Given the description of an element on the screen output the (x, y) to click on. 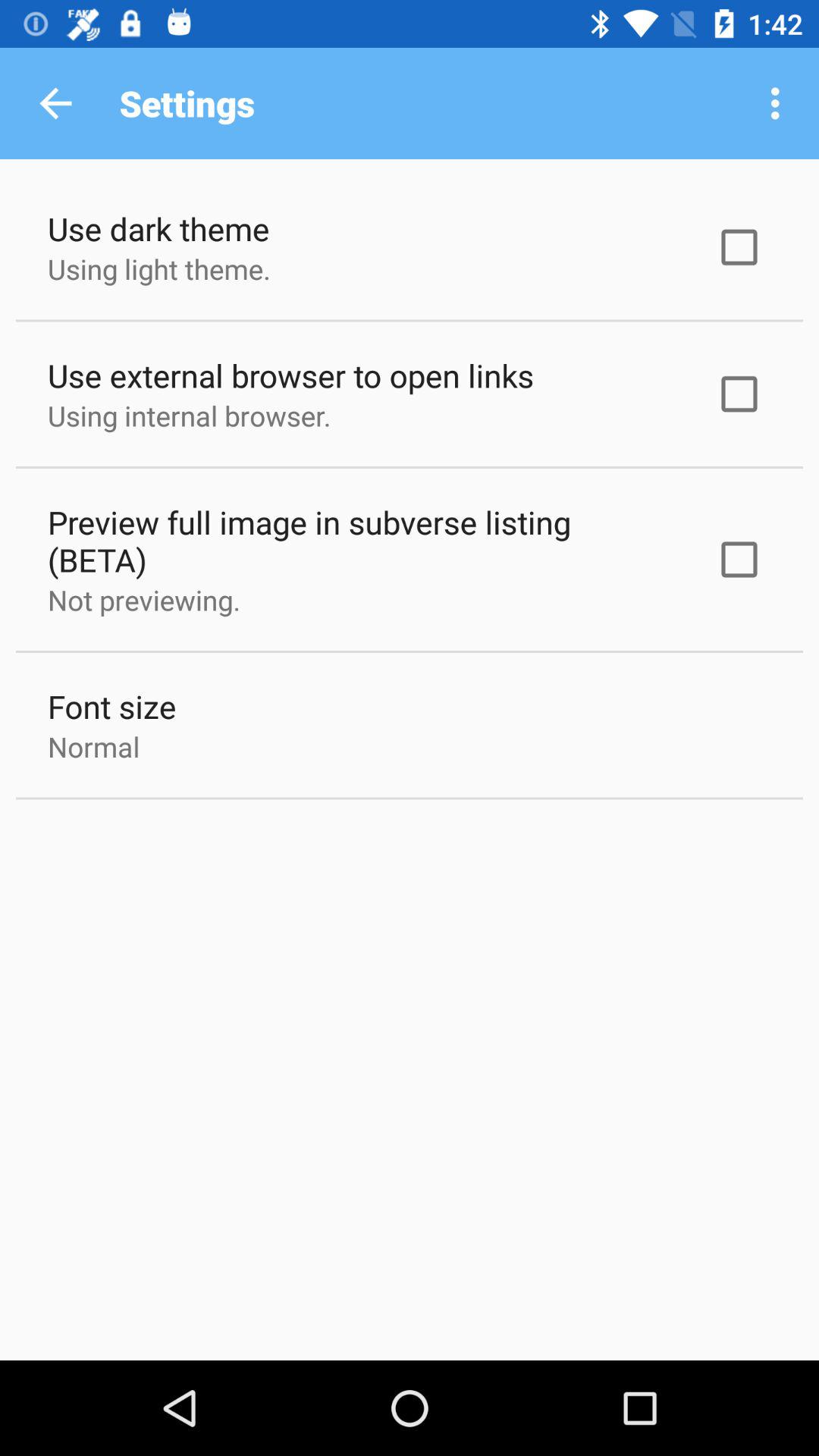
choose the item above normal item (111, 706)
